Given the description of an element on the screen output the (x, y) to click on. 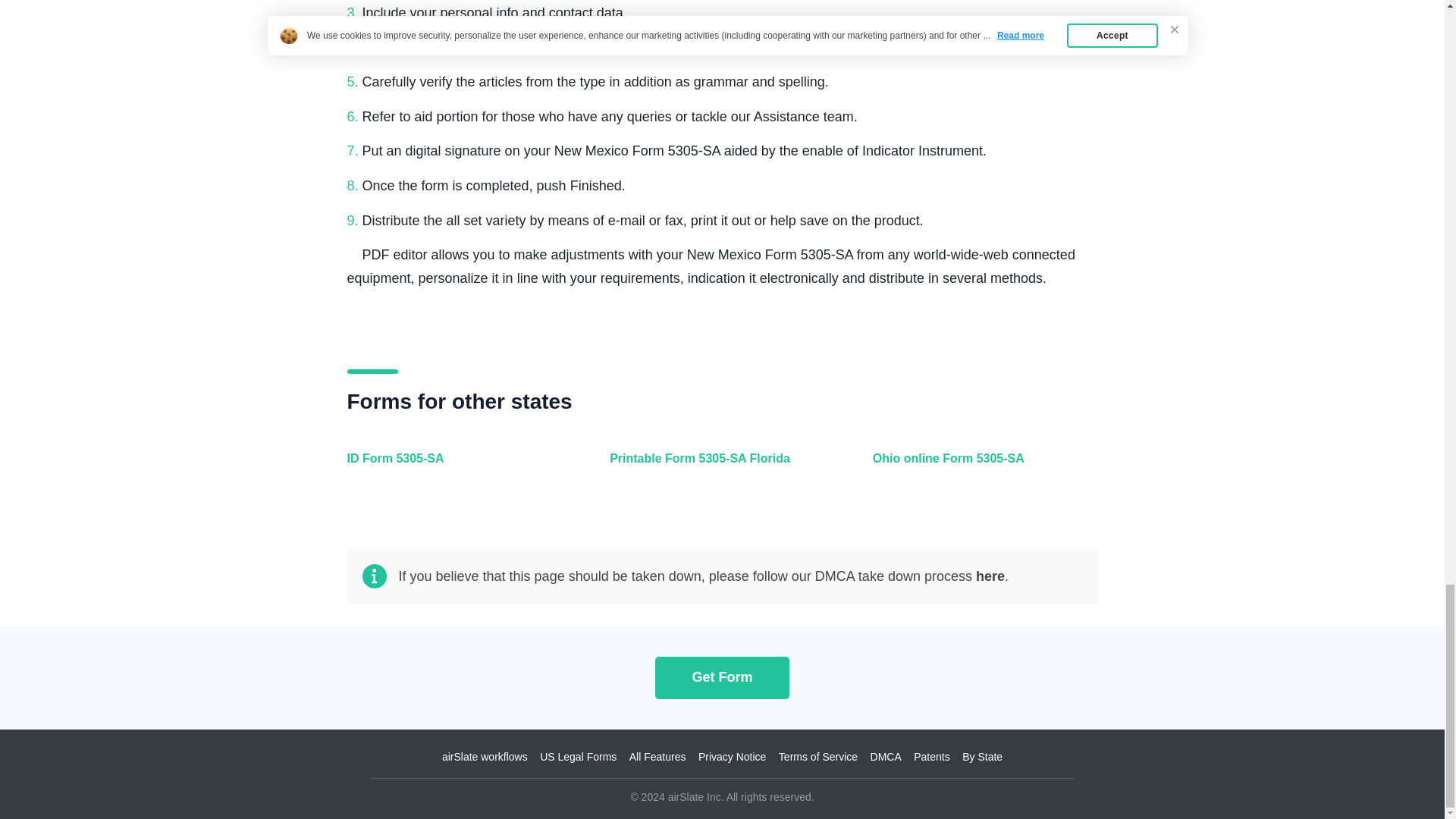
DMCA (885, 756)
ID Form 5305-SA (456, 466)
Terms of Service (817, 756)
All Features (656, 756)
US Legal Forms (577, 756)
Patents (931, 756)
Privacy Notice (731, 756)
Ohio online Form 5305-SA (981, 466)
airSlate workflows (484, 756)
Printable Form 5305-SA Florida (718, 466)
